Given the description of an element on the screen output the (x, y) to click on. 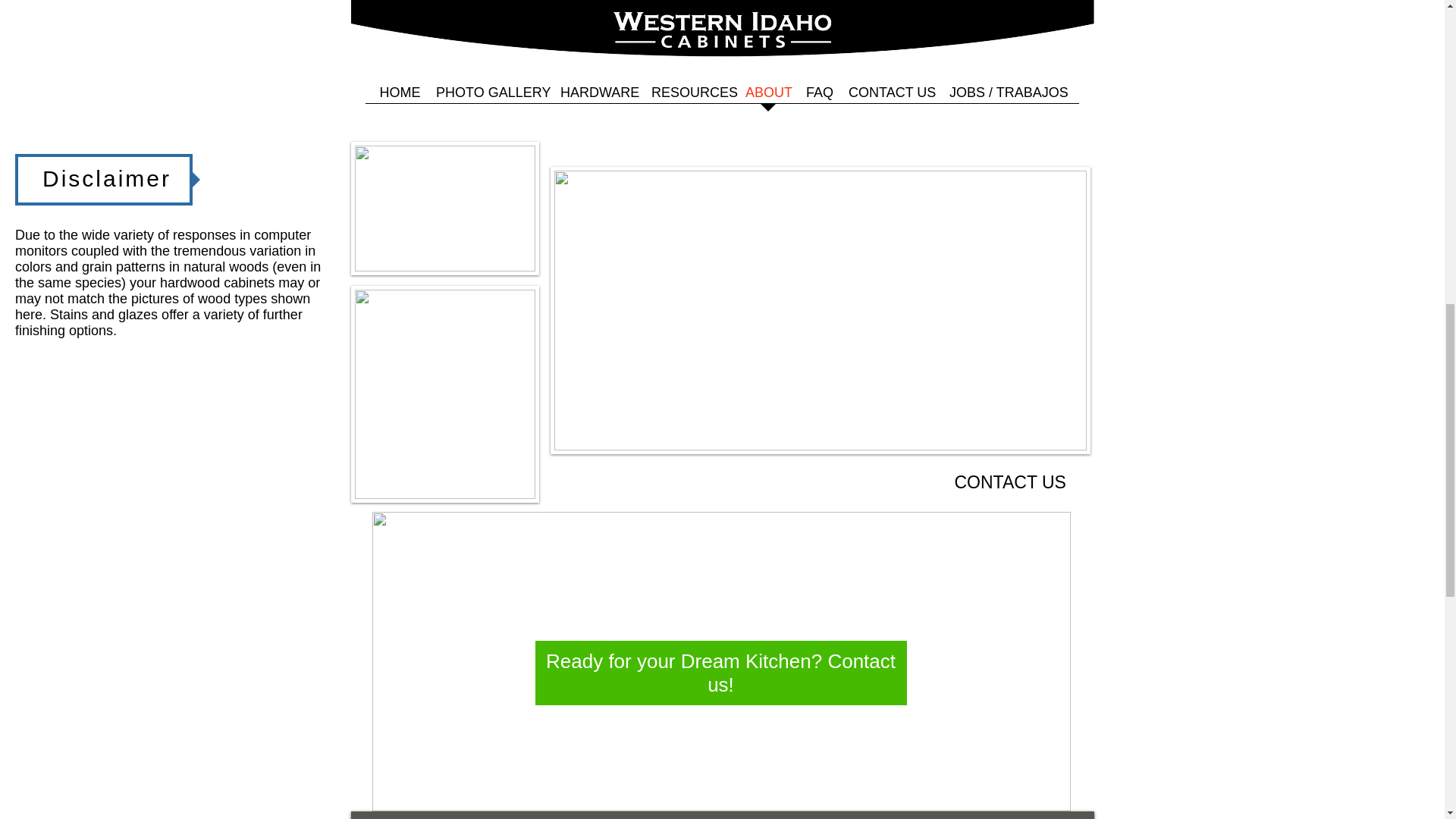
Ready for your Dream Kitchen? Contact us! (720, 673)
CONTACT US (1009, 482)
